Given the description of an element on the screen output the (x, y) to click on. 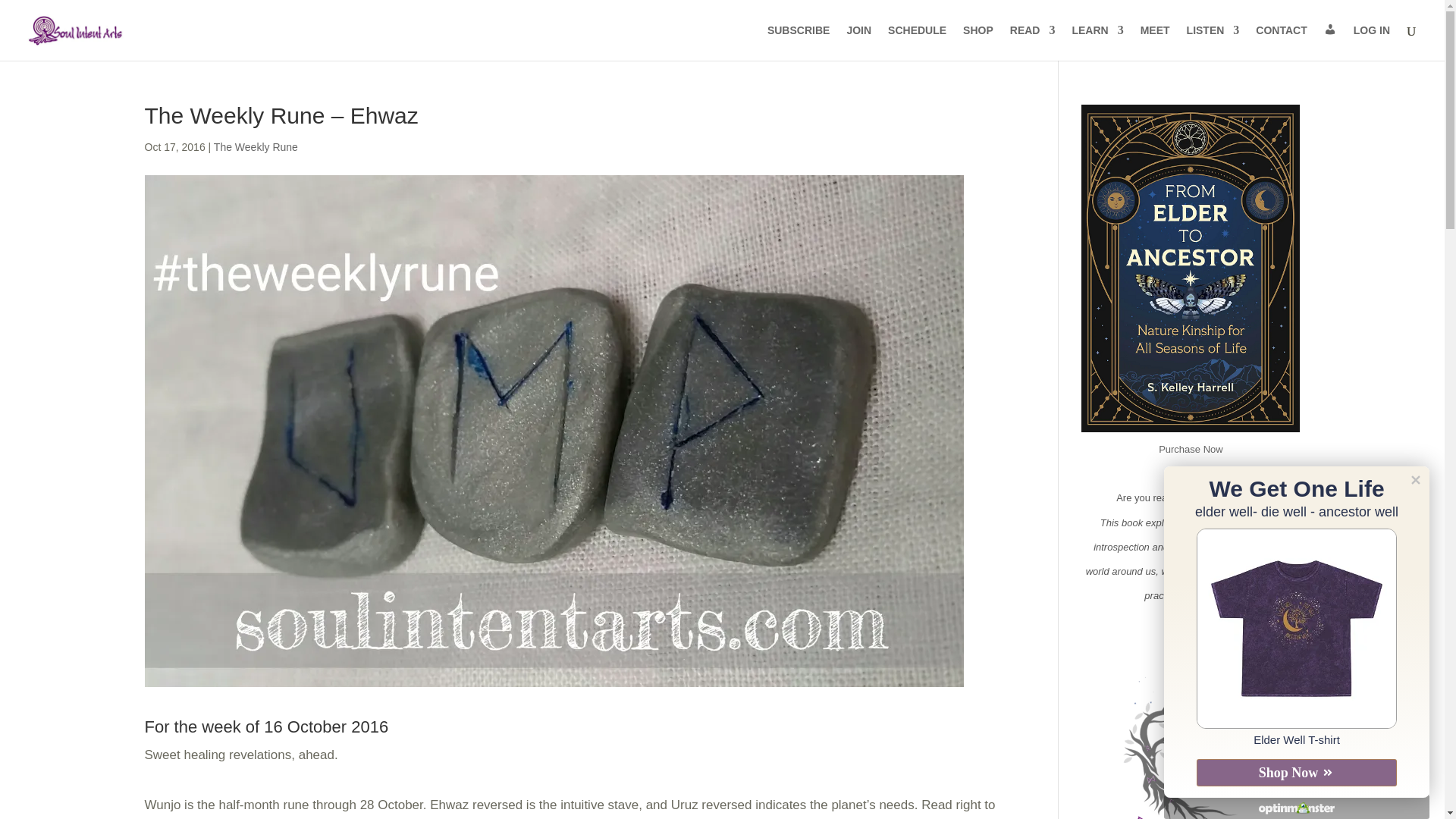
READ (1032, 42)
SUBSCRIBE (798, 42)
LISTEN (1213, 42)
MEET (1155, 42)
LOG IN (1372, 42)
What in the Wyrd Podcast (1213, 42)
My Account (1329, 42)
CONTACT (1280, 42)
LEARN (1096, 42)
SHOP (977, 42)
JOIN (857, 42)
SCHEDULE (917, 42)
